Given the description of an element on the screen output the (x, y) to click on. 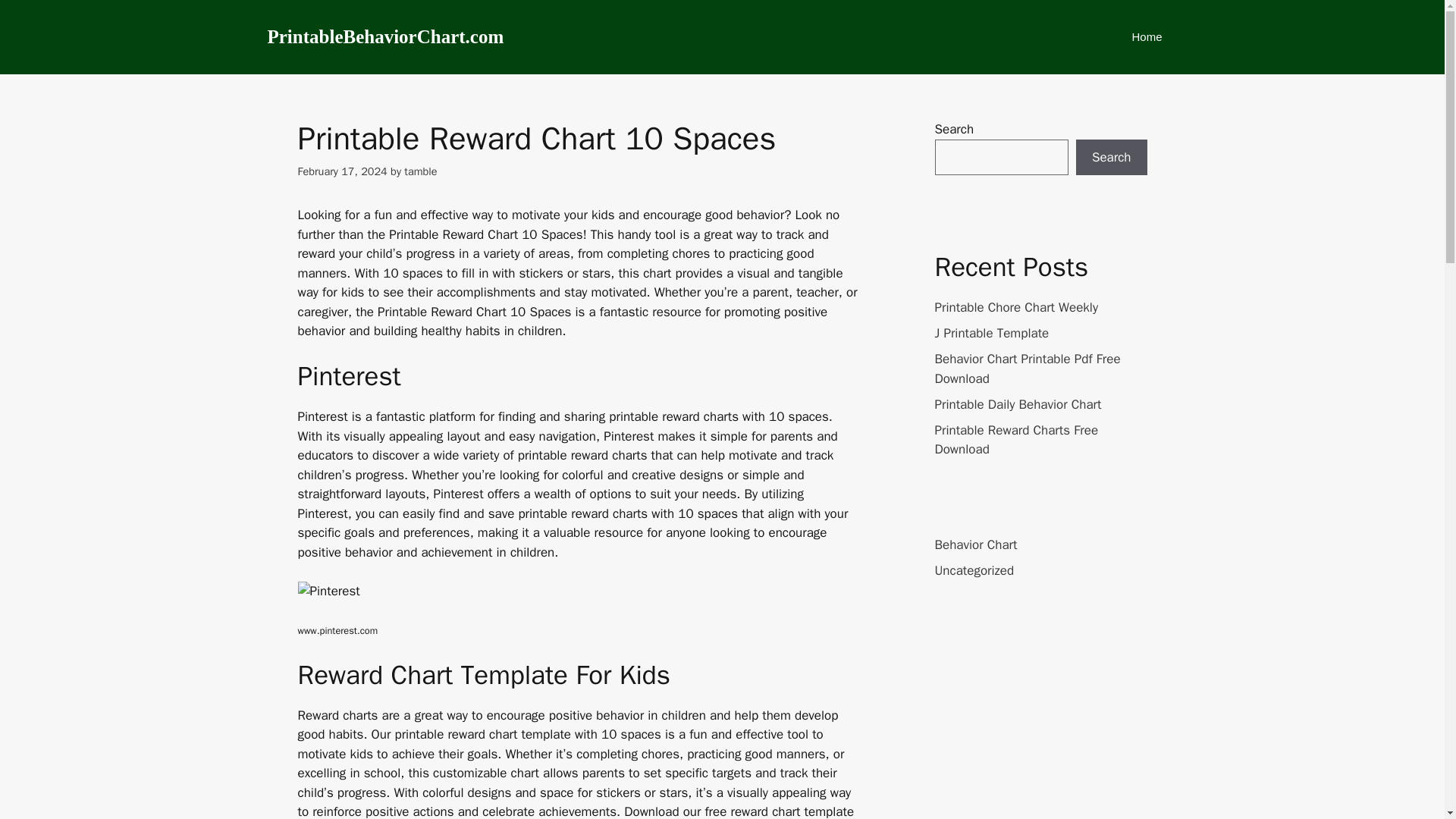
Home (1146, 36)
PrintableBehaviorChart.com (384, 37)
J Printable Template (991, 333)
Behavior Chart Printable Pdf Free Download (1026, 368)
Behavior Chart (975, 544)
Uncategorized (973, 570)
Printable Daily Behavior Chart (1017, 403)
Printable Chore Chart Weekly (1015, 307)
View all posts by tamble (420, 171)
tamble (420, 171)
Search (1111, 157)
Printable Reward Charts Free Download (1015, 439)
